Given the description of an element on the screen output the (x, y) to click on. 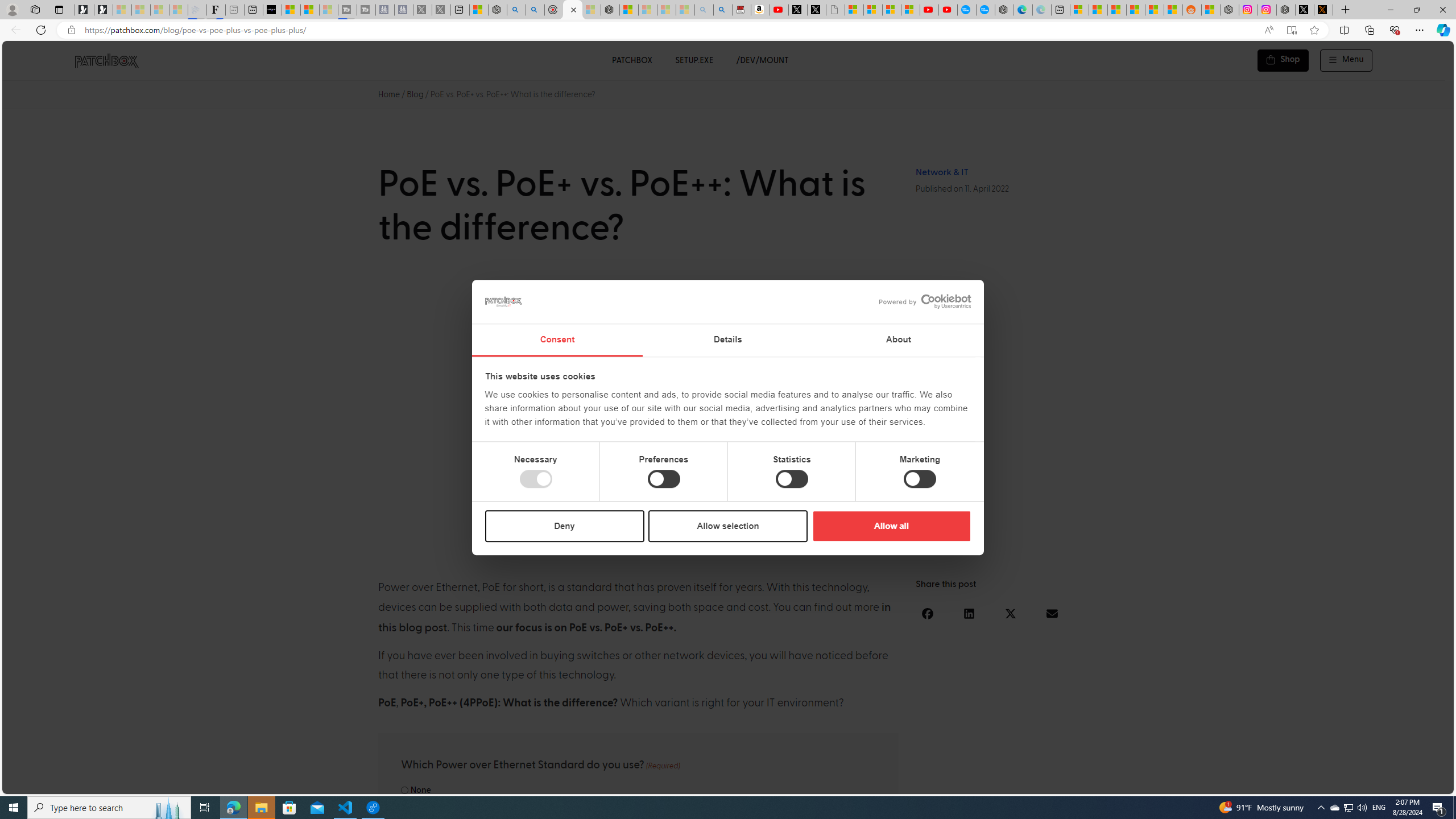
Amazon Echo Dot PNG - Search Images (722, 9)
Shanghai, China Weather trends | Microsoft Weather (1173, 9)
PATCHBOX (631, 60)
X - Sleeping (440, 9)
Language switcher : Romanian (1368, 782)
Language switcher : German (1231, 782)
Consent (556, 340)
About (898, 340)
Gloom - YouTube (929, 9)
